Given the description of an element on the screen output the (x, y) to click on. 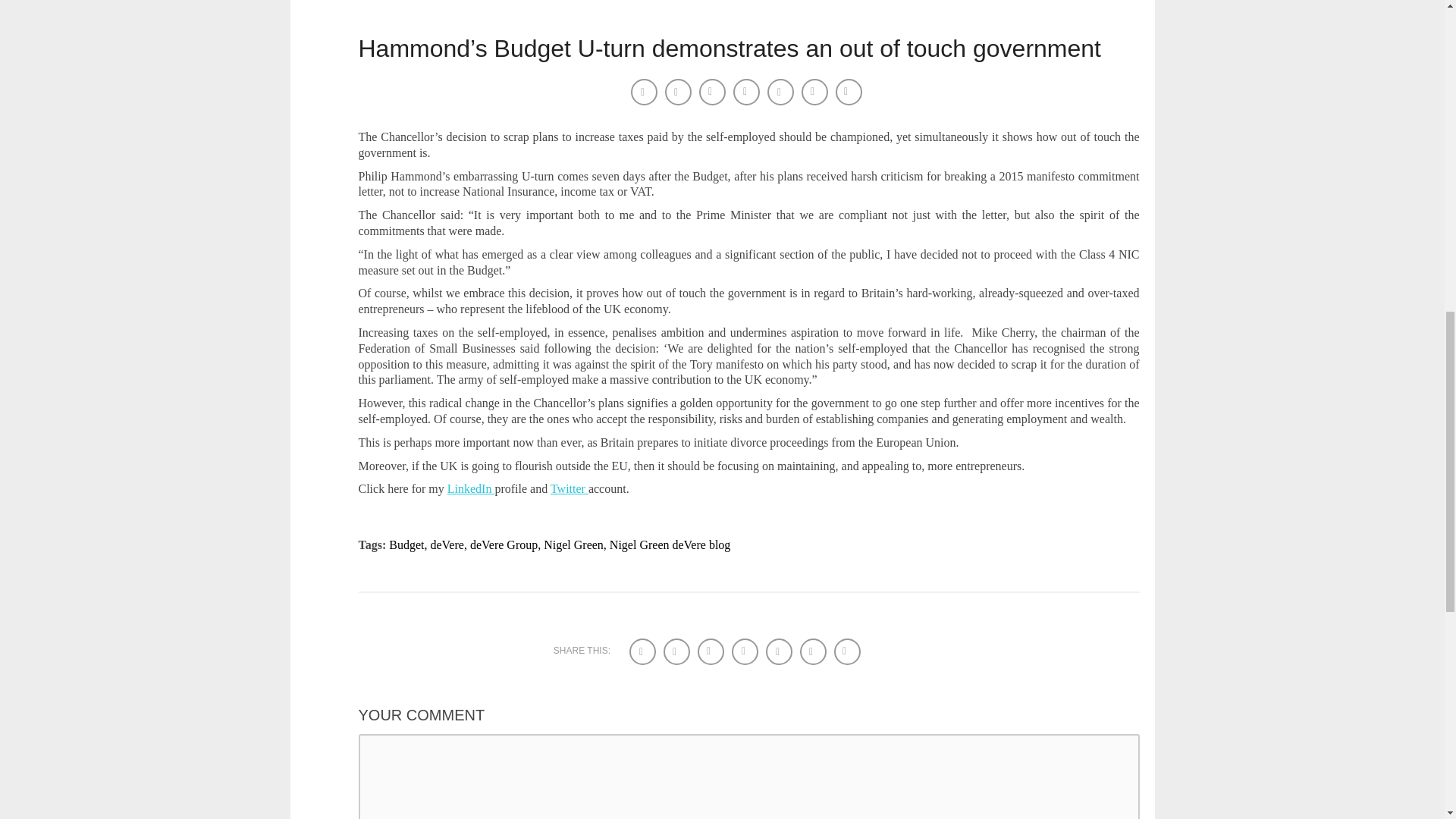
Share on Facebook (644, 652)
Share on Google Plus (781, 93)
Share on LinkedIn (713, 93)
deVere Group (506, 544)
Share on Twitter (678, 652)
LinkedIn (470, 488)
Share on Google Plus (780, 652)
Pin this (815, 652)
Pin this (816, 93)
Twitter (569, 488)
